Given the description of an element on the screen output the (x, y) to click on. 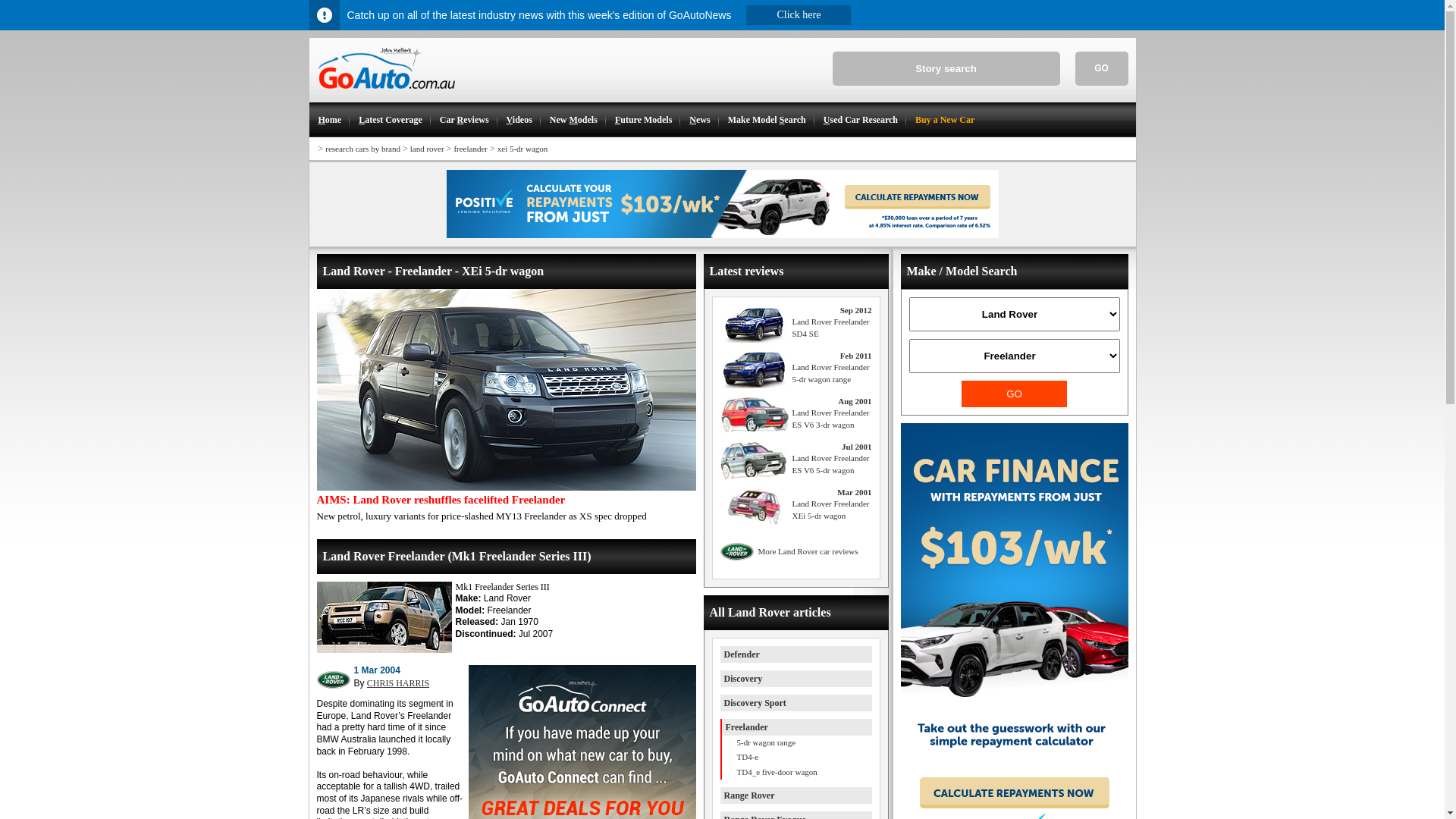
GO Element type: text (1013, 393)
Car Reviews Element type: text (463, 119)
Make Model Search Element type: text (765, 119)
CHRIS HARRIS Element type: text (398, 682)
Defender Element type: text (741, 654)
Discovery Sport Element type: text (754, 702)
xei 5-dr wagon Element type: text (522, 148)
Sep 2012

Land Rover Freelander SD4 SE Element type: text (830, 332)
5-dr wagon range Element type: text (796, 742)
Freelander Element type: text (745, 726)
Home Element type: text (329, 119)
Range Rover Element type: text (748, 795)
Future Models Element type: text (642, 119)
The Land Rover motorcar company logo Element type: hover (333, 679)
Latest Coverage Element type: text (389, 119)
TD4_e five-door wagon Element type: text (796, 772)
Jul 2001

Land Rover Freelander ES V6 5-dr wagon Element type: text (830, 469)
More Land Rover car reviews Element type: text (796, 551)
land rover Element type: text (427, 148)
research cars by brand Element type: text (362, 148)
TD4-e Element type: text (796, 757)
Discovery Element type: text (742, 678)
picture of the Land Rover Freelander Element type: hover (506, 389)
Aug 2001

Land Rover Freelander ES V6 3-dr wagon Element type: text (830, 423)
News Element type: text (698, 119)
Mar 2001

Land Rover Freelander XEi 5-dr wagon Element type: text (830, 514)
Feb 2011

Land Rover Freelander 5-dr wagon range Element type: text (830, 378)
Buy a New Car Element type: text (944, 119)
Nodifi Leaderboard ad  Element type: hover (721, 234)
Used Car Research Element type: text (859, 119)
GO Element type: text (1101, 68)
GoAuto.com.au Element type: hover (382, 95)
New Models Element type: text (572, 119)
freelander Element type: text (470, 148)
Videos Element type: text (518, 119)
